Given the description of an element on the screen output the (x, y) to click on. 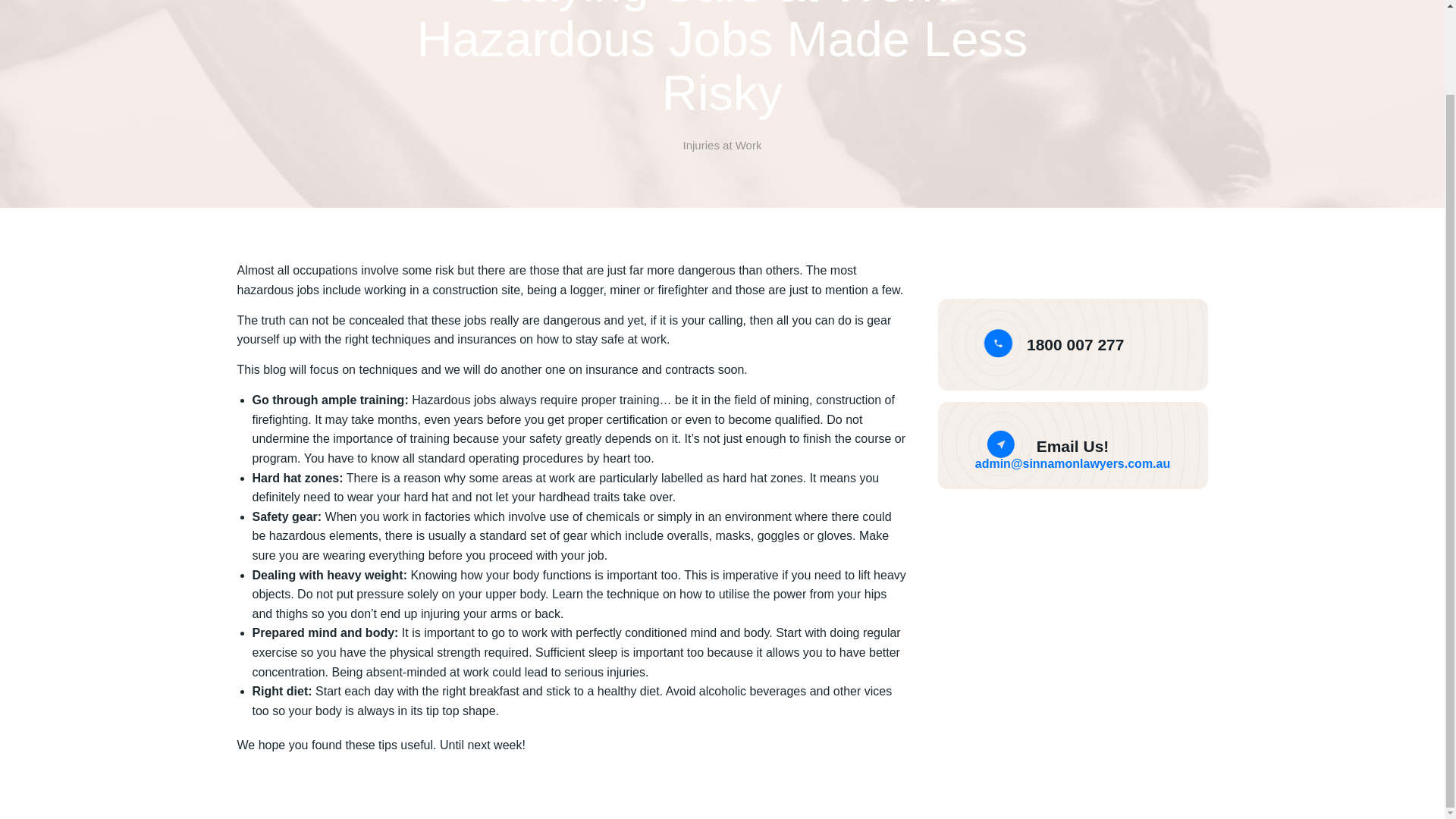
Email Us! (1072, 446)
1800 007 277 (1075, 343)
